Given the description of an element on the screen output the (x, y) to click on. 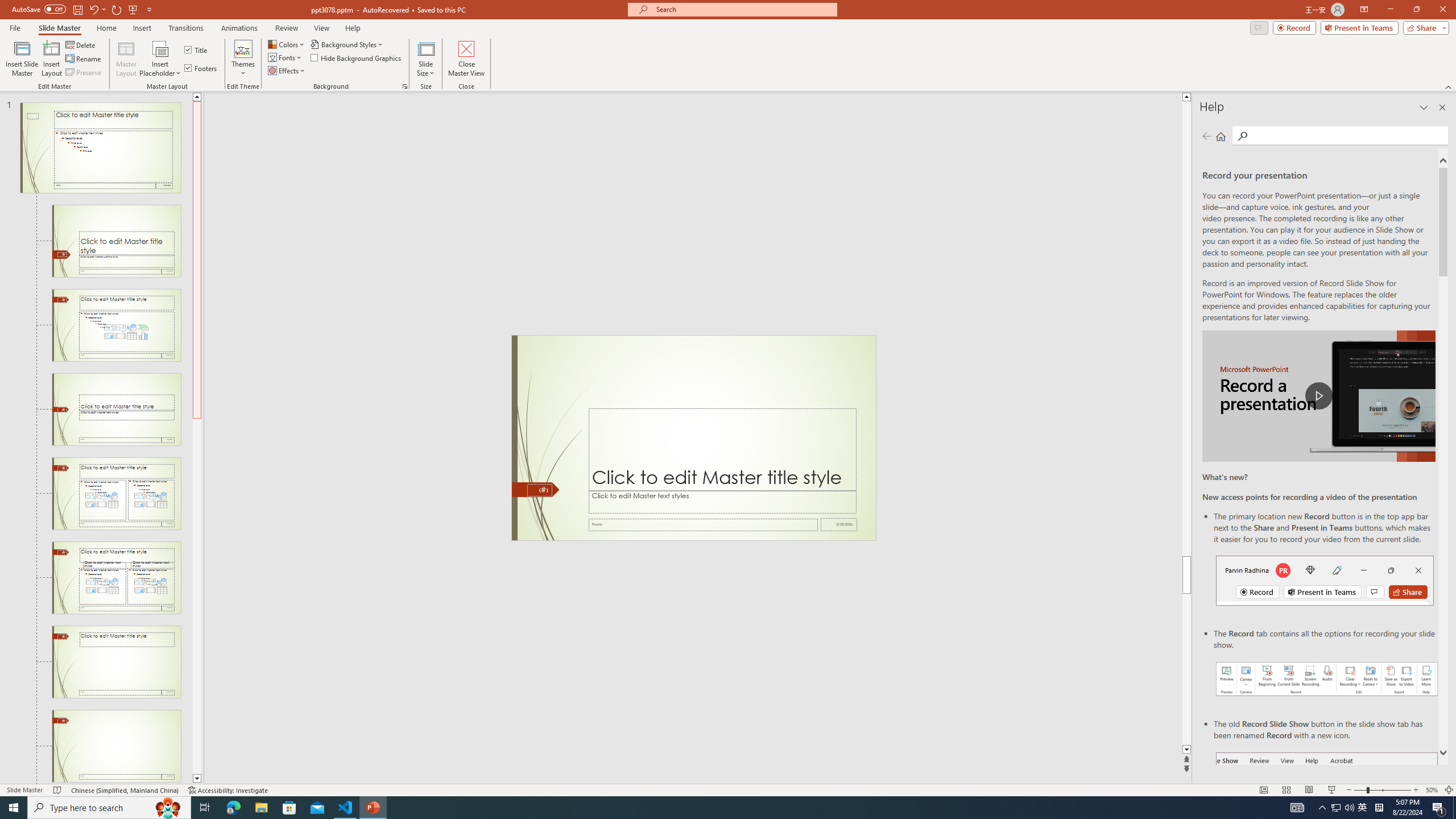
Slide Number (539, 490)
Slide Comparison Layout: used by no slides (116, 577)
Slide Master (59, 28)
Effects (287, 69)
